Given the description of an element on the screen output the (x, y) to click on. 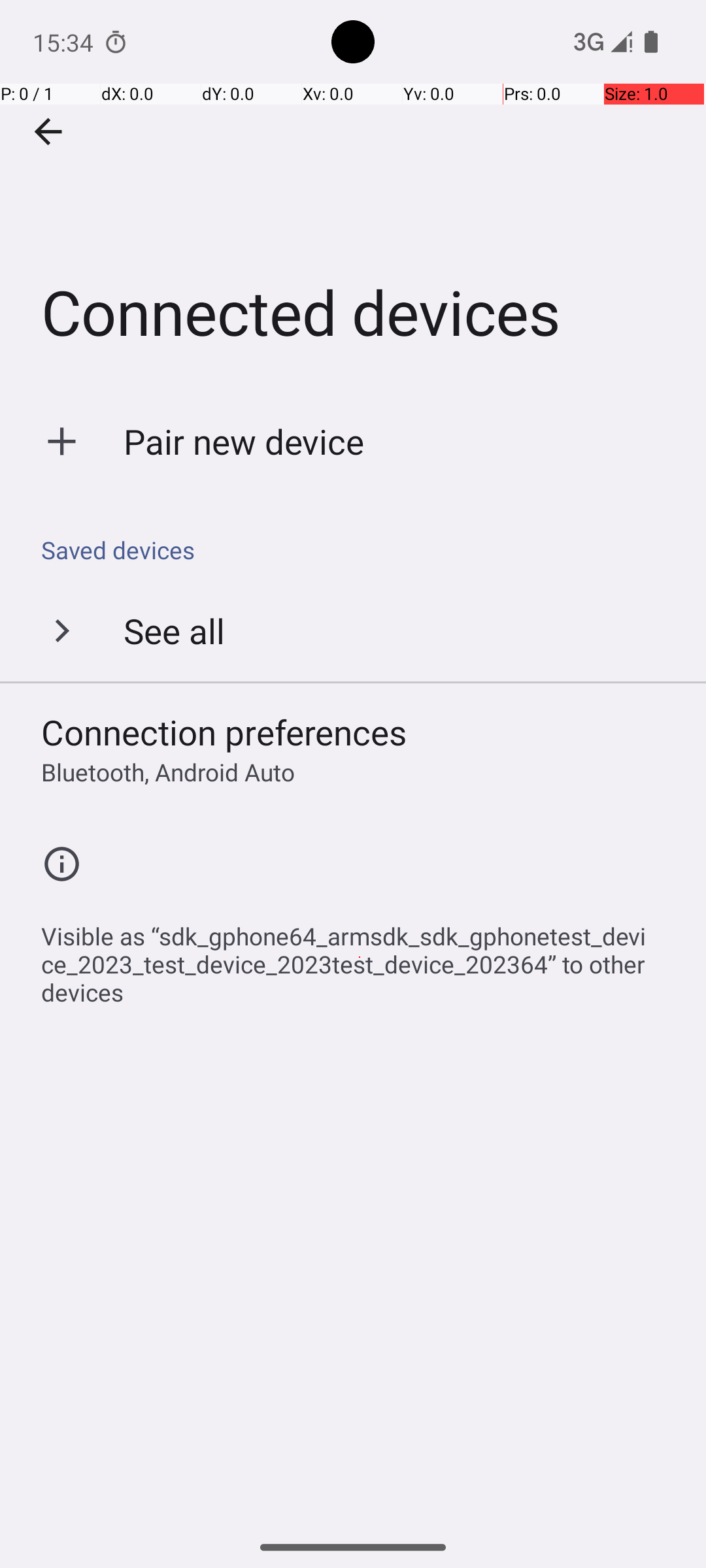
Visible as “sdk_gphone64_armsdk_sdk_gphonetest_device_2023_test_device_2023test_device_202364” to other devices Element type: android.widget.TextView (359, 956)
